Given the description of an element on the screen output the (x, y) to click on. 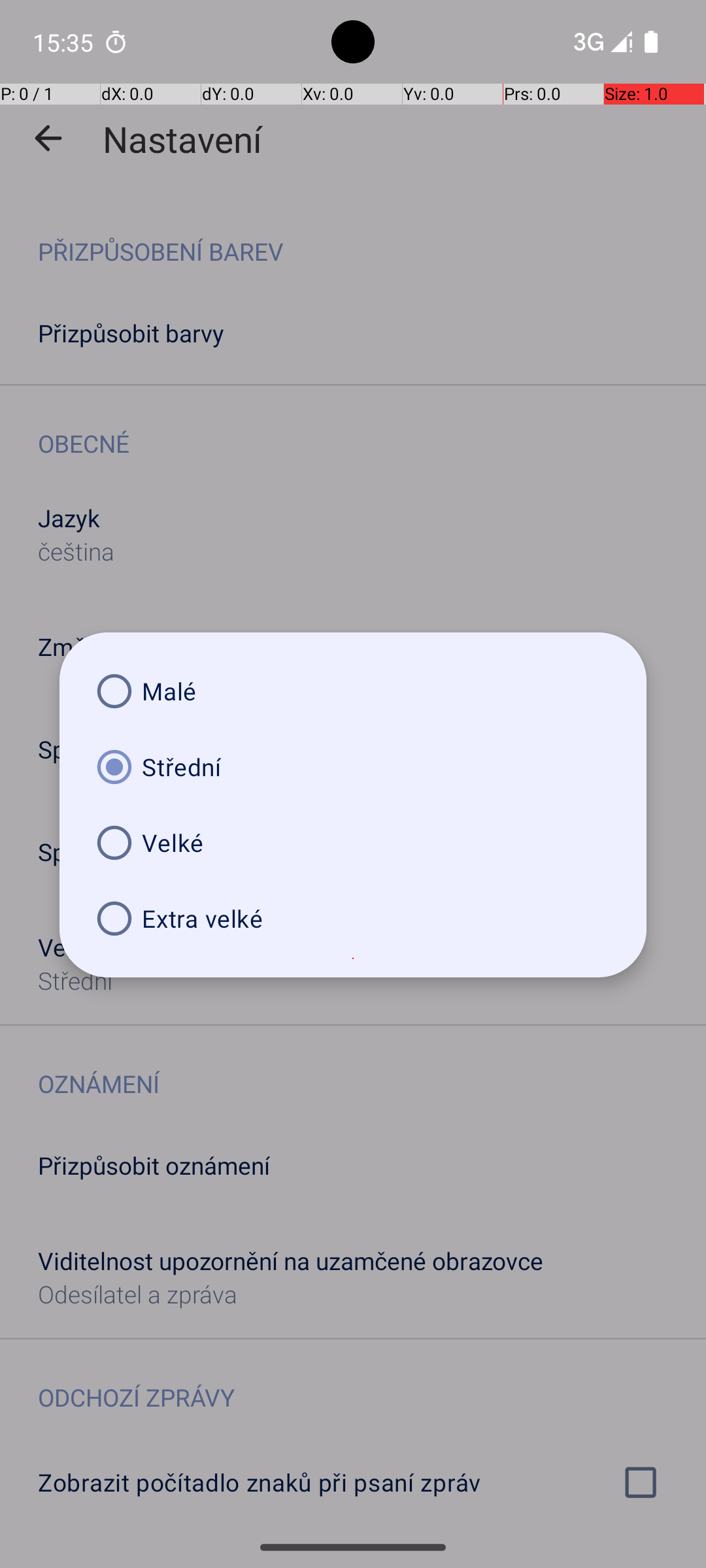
Malé Element type: android.widget.RadioButton (352, 691)
Střední Element type: android.widget.RadioButton (352, 766)
Velké Element type: android.widget.RadioButton (352, 842)
Extra velké Element type: android.widget.RadioButton (352, 918)
